Given the description of an element on the screen output the (x, y) to click on. 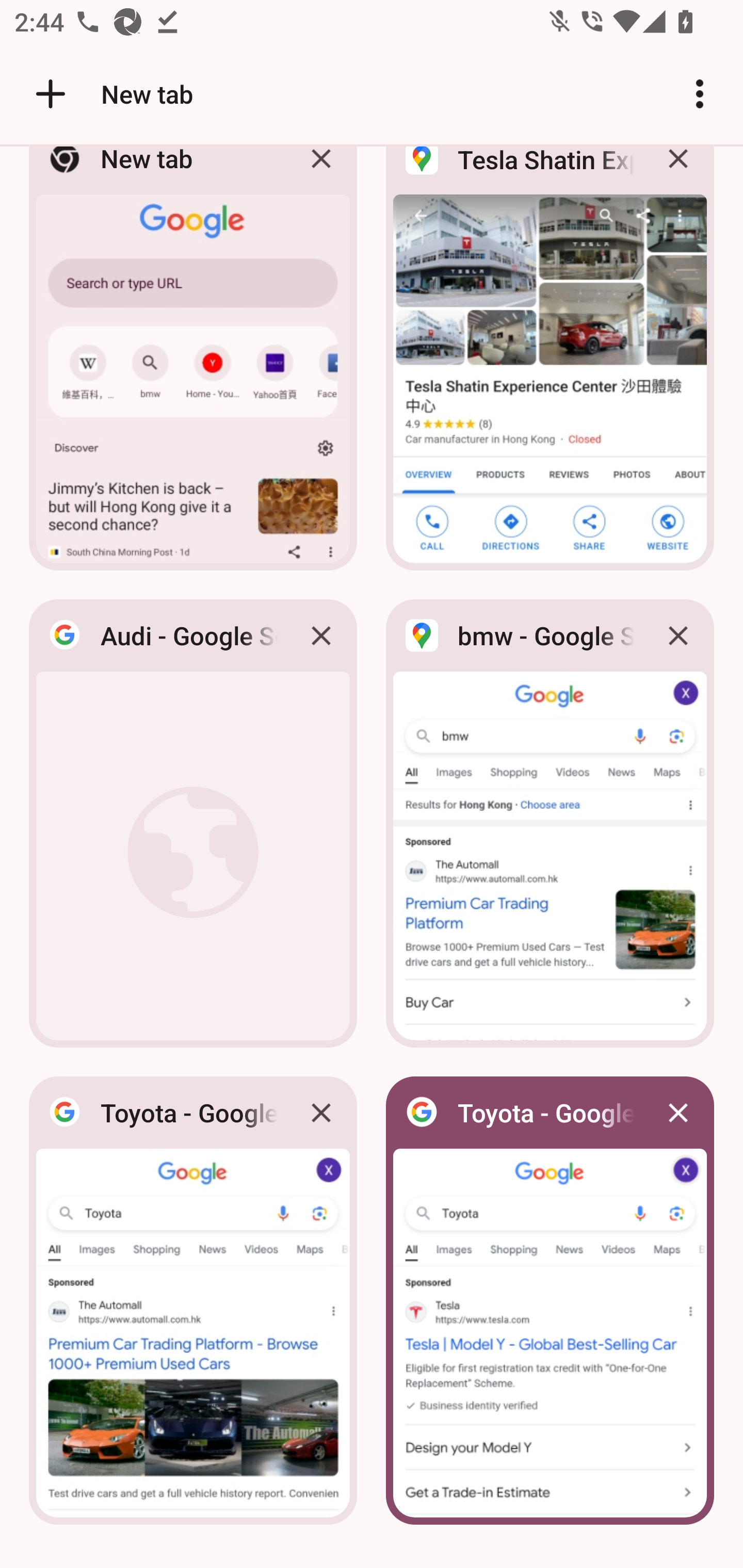
Open the home page (43, 93)
New tab (111, 93)
Customize and control Google Chrome (699, 93)
New tab New tab, tab Close New tab tab (192, 364)
Close New tab tab (320, 173)
Close Audi - Google Search tab (320, 635)
Close bmw - Google Search tab (677, 635)
Close Toyota - Google Search tab (320, 1112)
Close Toyota - Google Search tab (677, 1112)
